Given the description of an element on the screen output the (x, y) to click on. 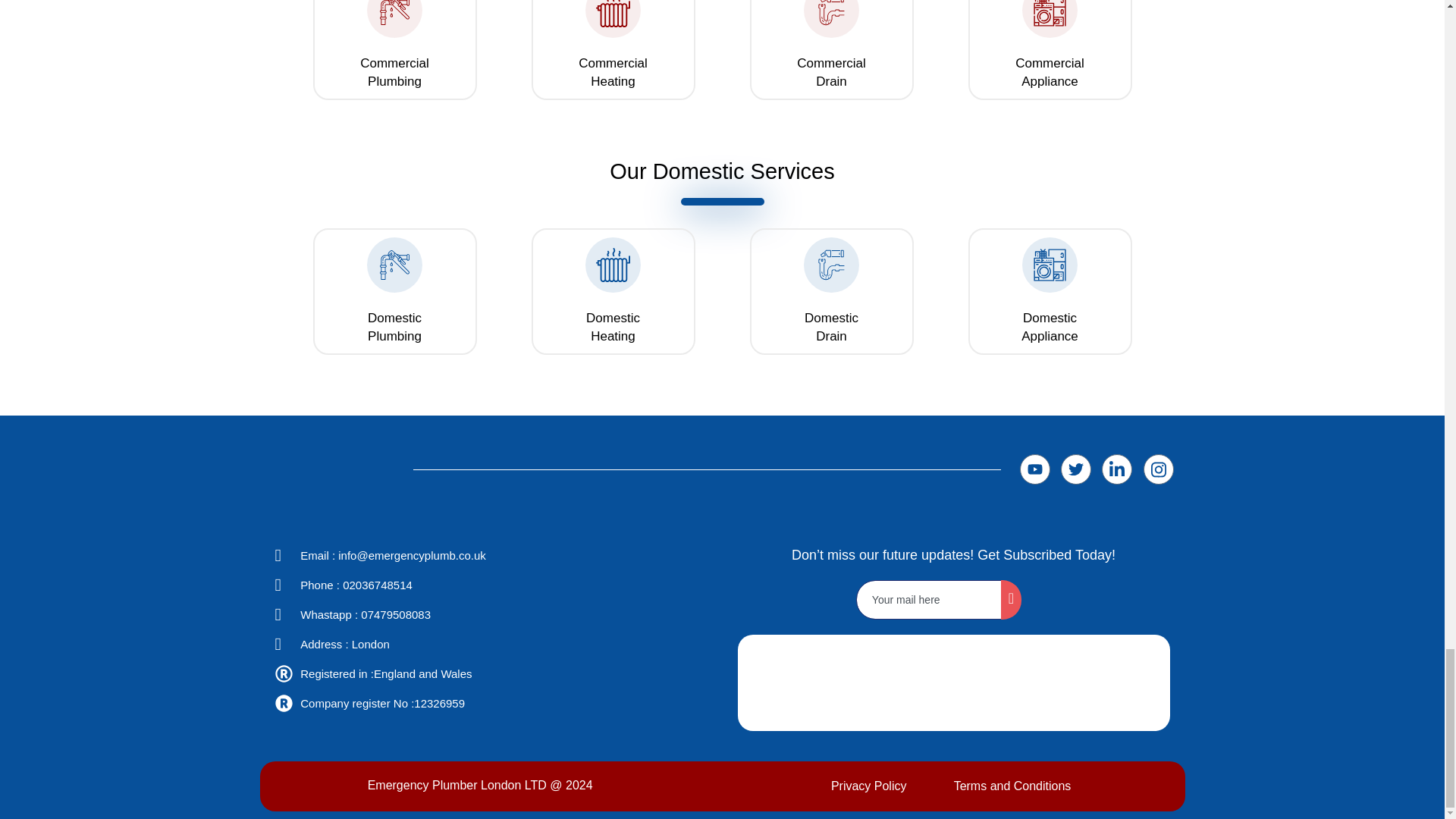
logo (1088, 681)
